Given the description of an element on the screen output the (x, y) to click on. 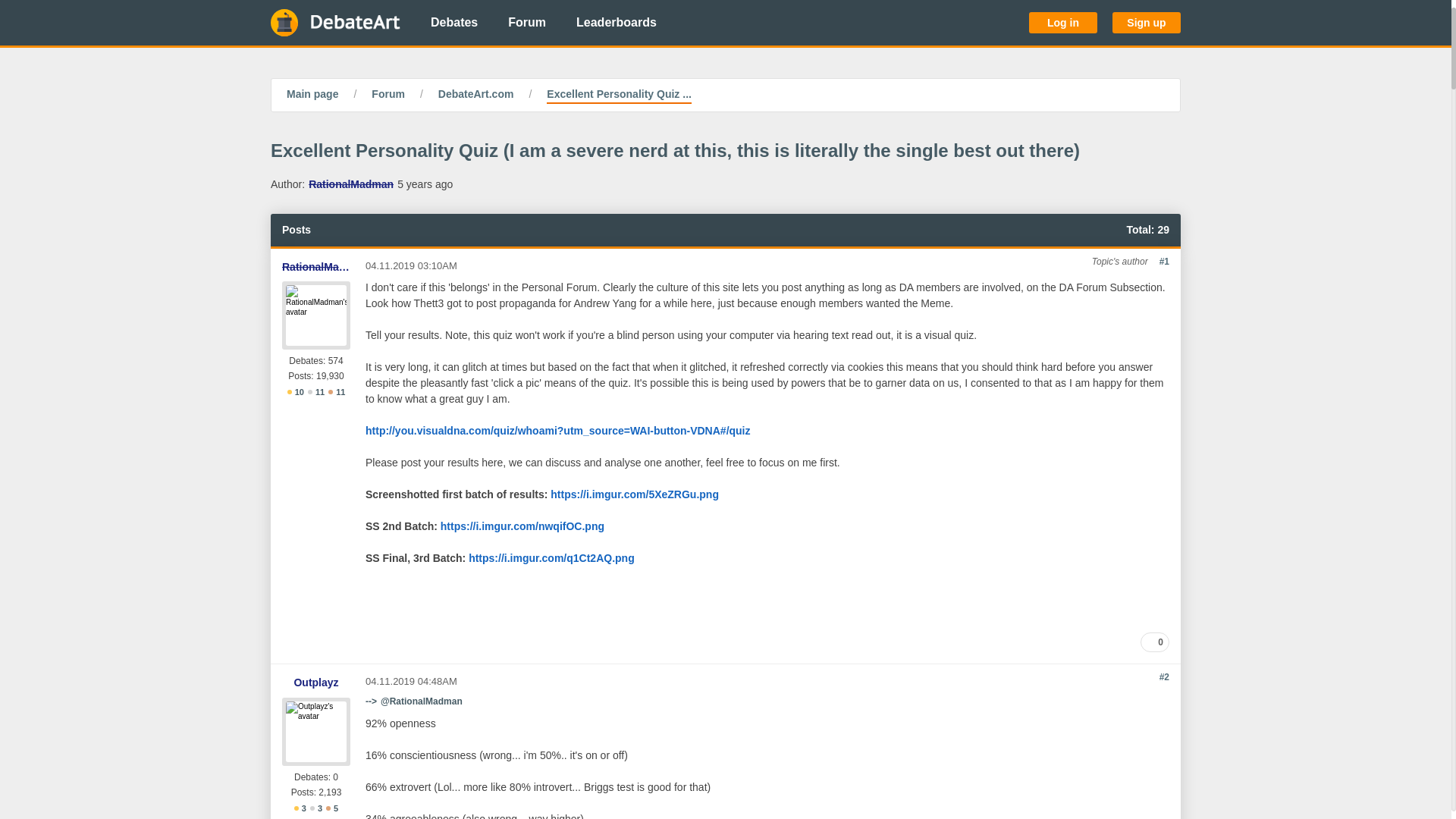
Log in (1063, 22)
Go to main page (335, 22)
Sign up (1146, 22)
Forum (526, 22)
Outplayz (315, 682)
Main page (311, 95)
RationalMadman (350, 183)
Leaderboards (615, 22)
Debates (453, 22)
